Given the description of an element on the screen output the (x, y) to click on. 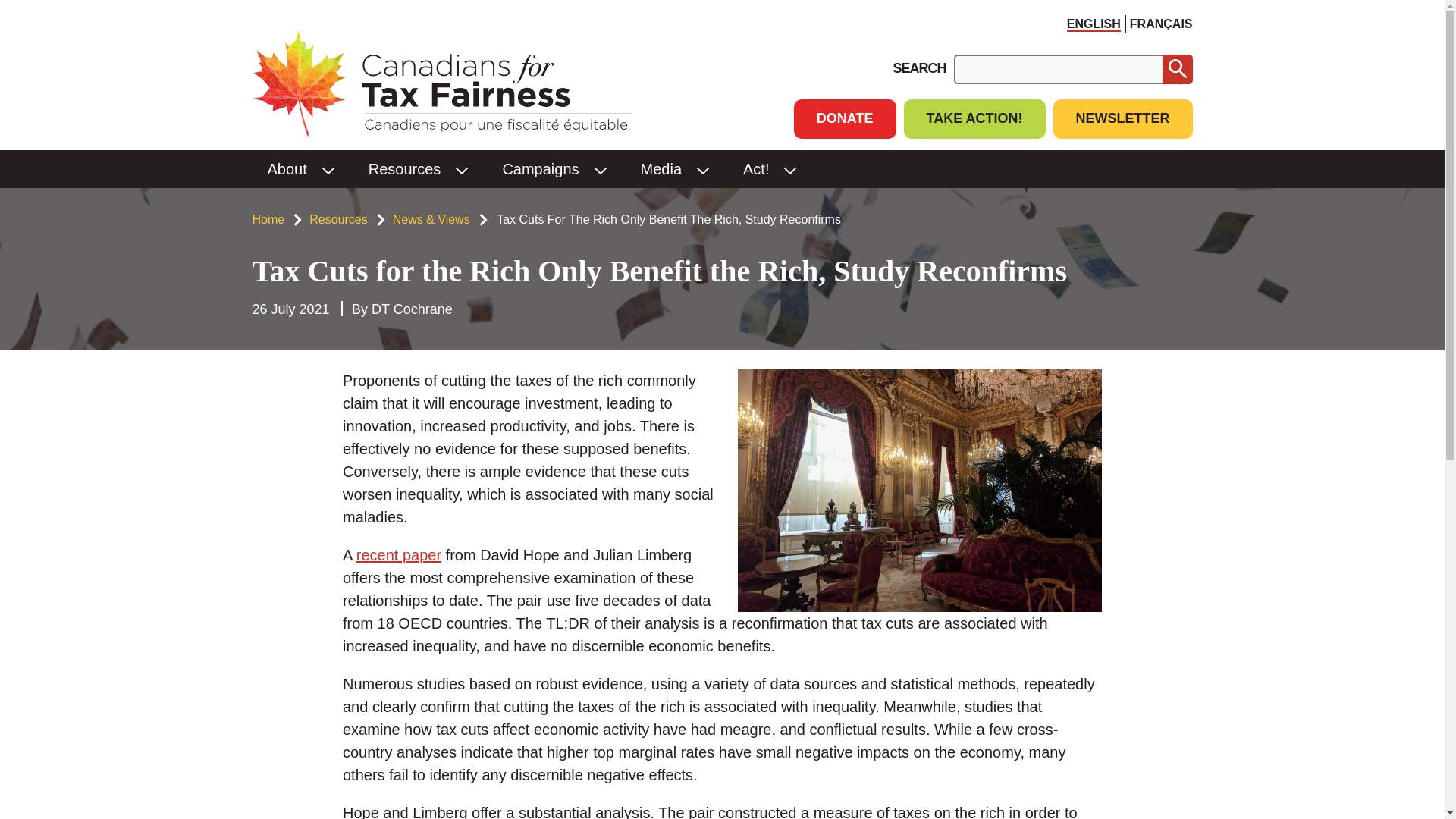
ENGLISH (1094, 24)
Campaigns (534, 168)
Media (655, 168)
Search (1176, 69)
TAKE ACTION! (974, 118)
Act! (750, 168)
About (280, 168)
Search (1176, 69)
CAMPAIGNS SUBMENU (600, 168)
RESOURCES SUBMENU (461, 168)
DONATE (844, 118)
MEDIA SUBMENU (702, 168)
NEWSLETTER (1122, 118)
ABOUT SUBMENU (328, 168)
Resources (399, 168)
